Given the description of an element on the screen output the (x, y) to click on. 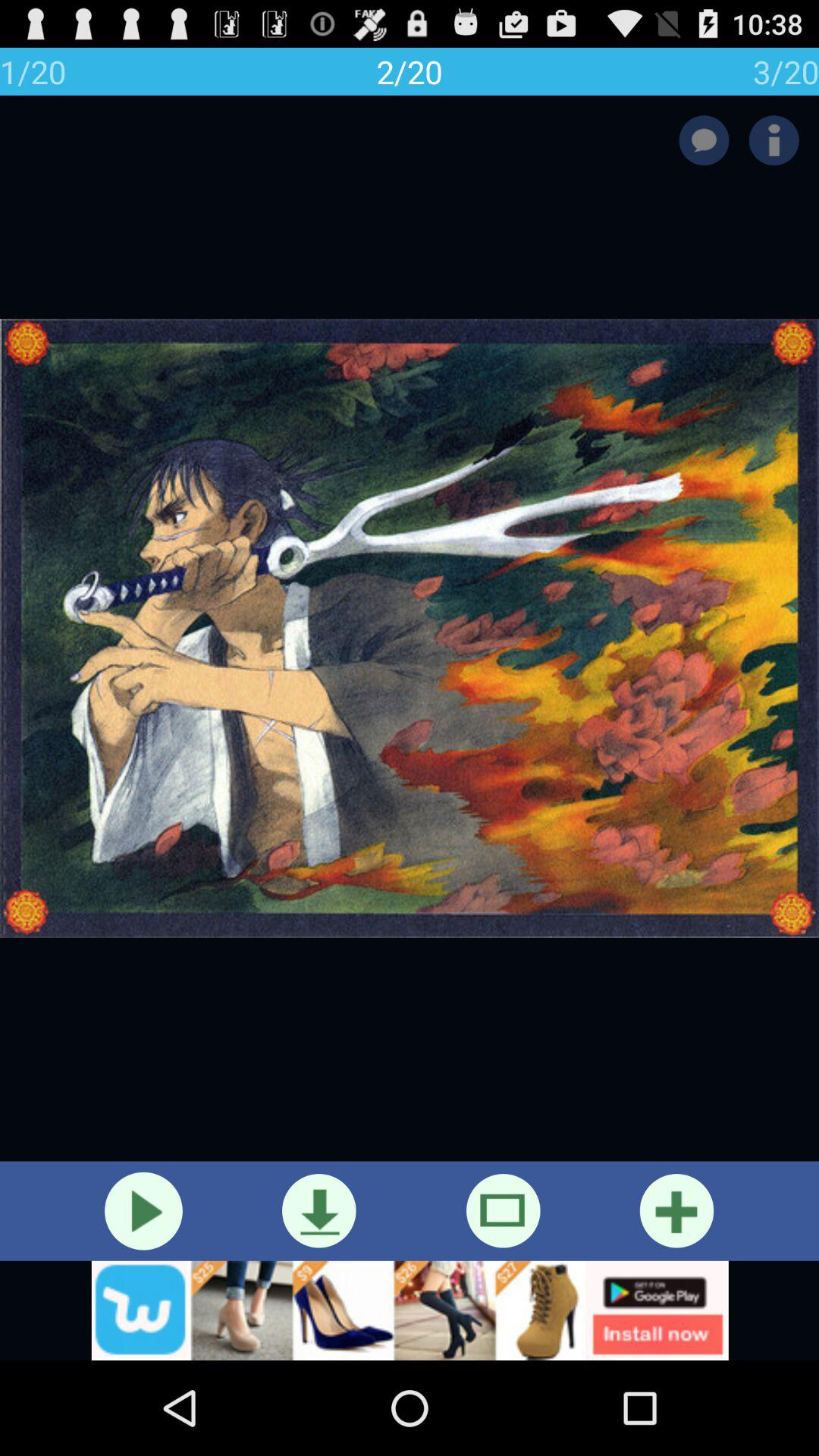
comment on the image (704, 140)
